Given the description of an element on the screen output the (x, y) to click on. 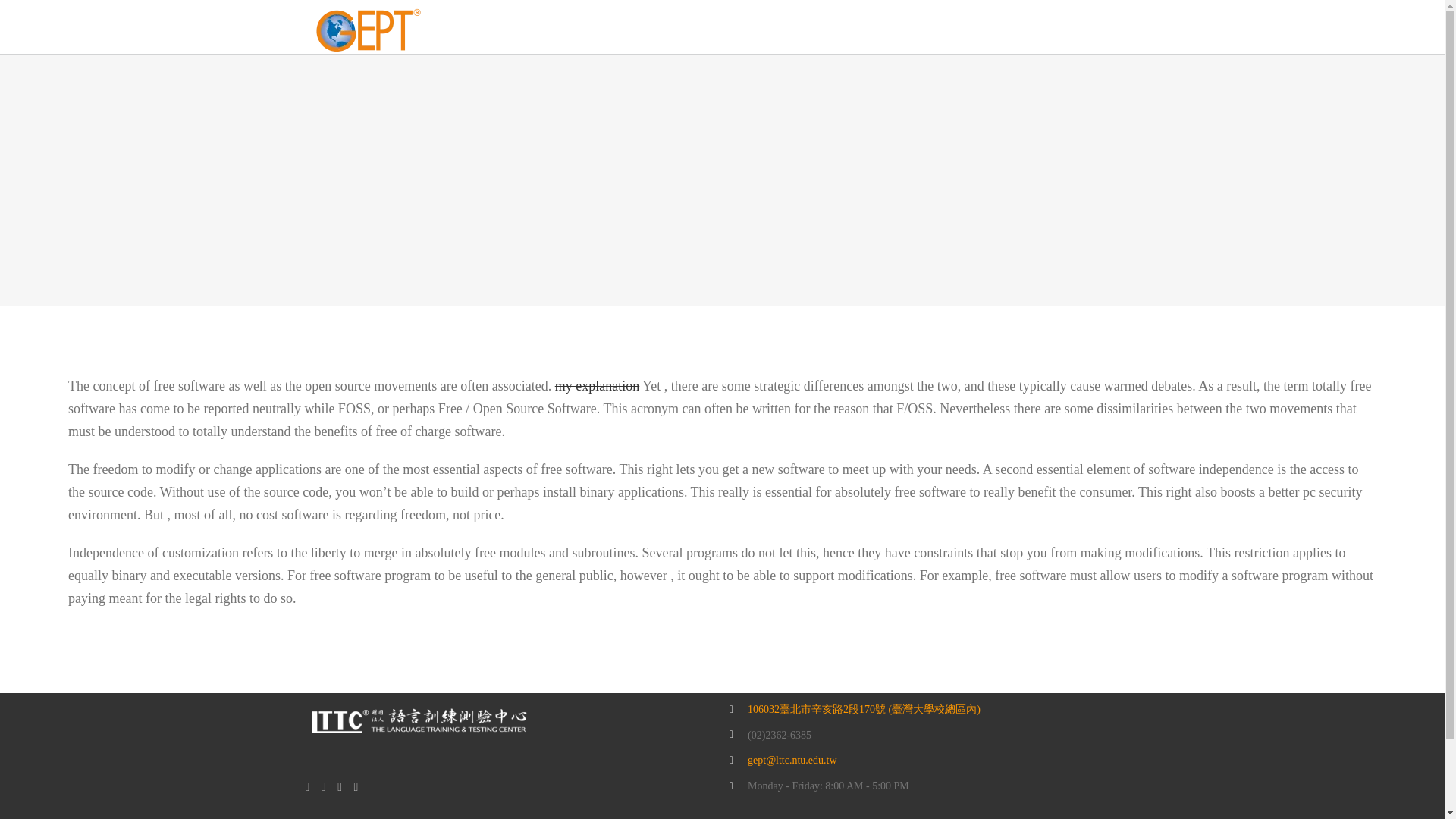
my explanation (596, 385)
